Given the description of an element on the screen output the (x, y) to click on. 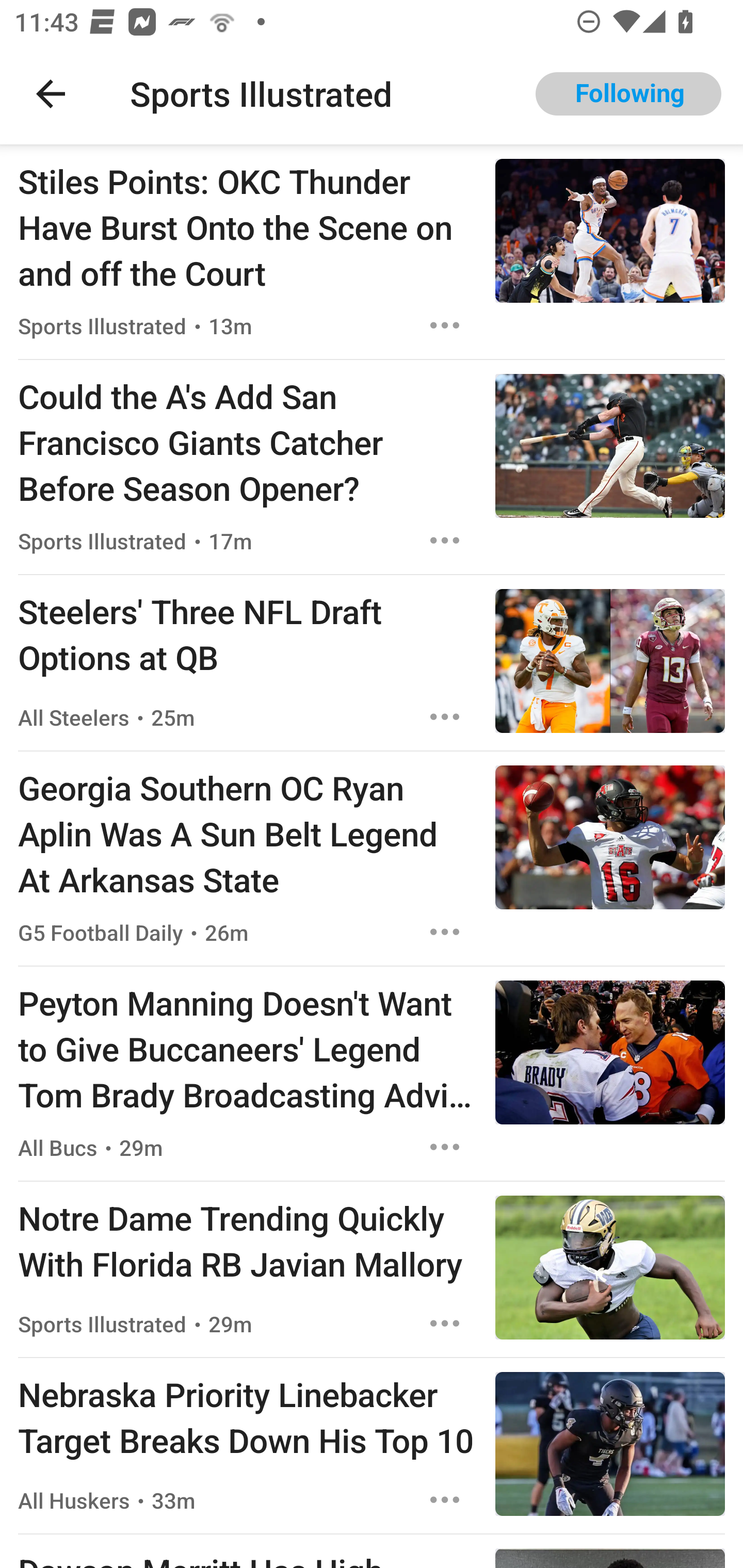
Navigate up (50, 93)
Following (628, 94)
Options (444, 325)
Options (444, 540)
Options (444, 716)
Options (444, 932)
Options (444, 1146)
Options (444, 1323)
Options (444, 1499)
